Given the description of an element on the screen output the (x, y) to click on. 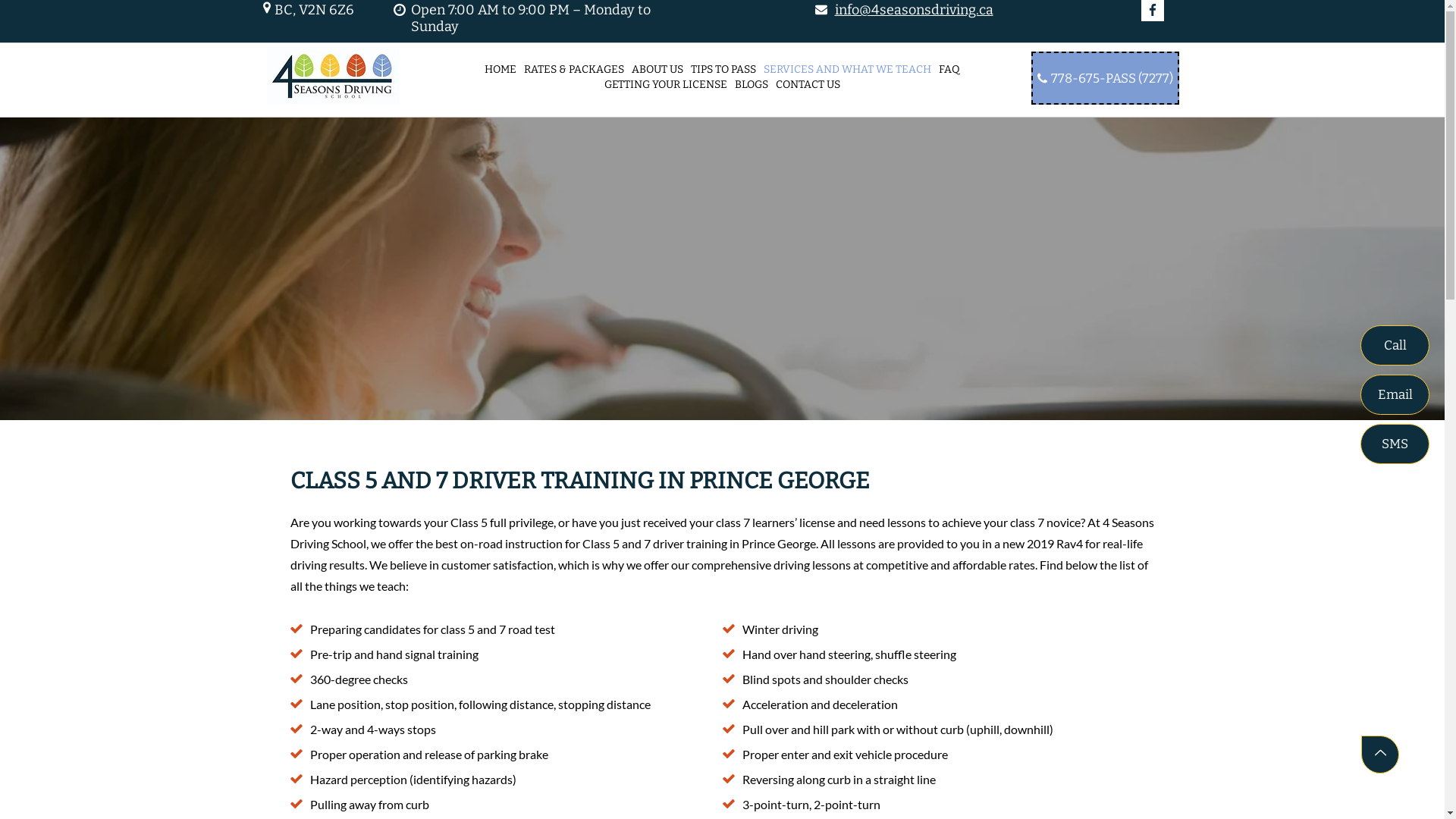
778-675-PASS (7277) Element type: text (1105, 77)
Email Element type: text (1394, 394)
SERVICES AND WHAT WE TEACH Element type: text (847, 69)
SMS Element type: text (1394, 443)
HOME Element type: text (500, 69)
ABOUT US Element type: text (657, 69)
BLOGS Element type: text (751, 84)
Call Element type: text (1394, 344)
info@4seasonsdriving.ca Element type: text (913, 9)
CONTACT US Element type: text (808, 84)
GETTING YOUR LICENSE Element type: text (666, 84)
FAQ Element type: text (950, 69)
TIPS TO PASS Element type: text (723, 69)
